Given the description of an element on the screen output the (x, y) to click on. 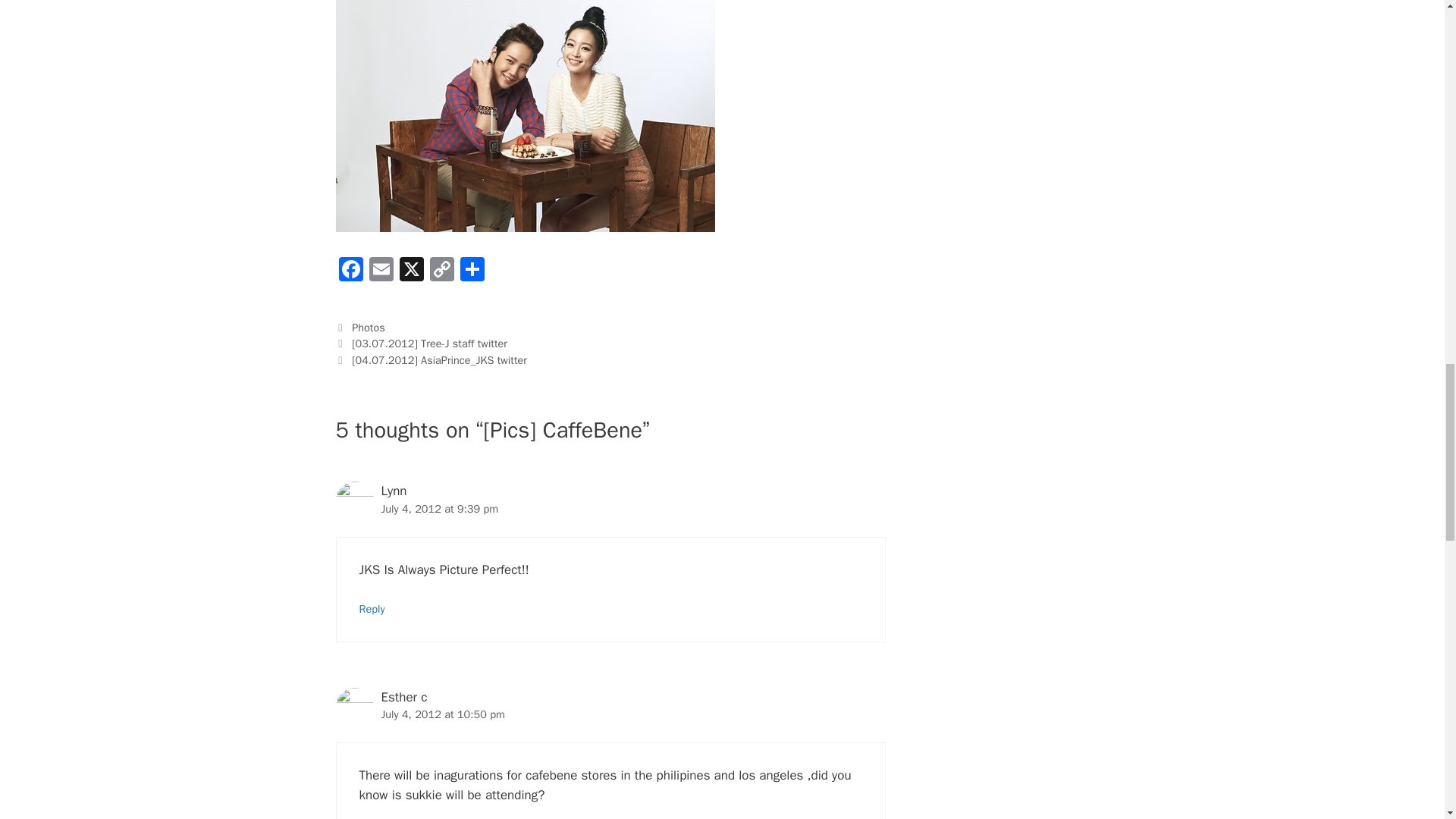
X (411, 271)
Facebook (349, 271)
July 4, 2012 at 10:50 pm (441, 714)
X (411, 271)
Copy Link (441, 271)
Facebook (349, 271)
Reply (372, 608)
Email (380, 271)
Email (380, 271)
Copy Link (441, 271)
